Given the description of an element on the screen output the (x, y) to click on. 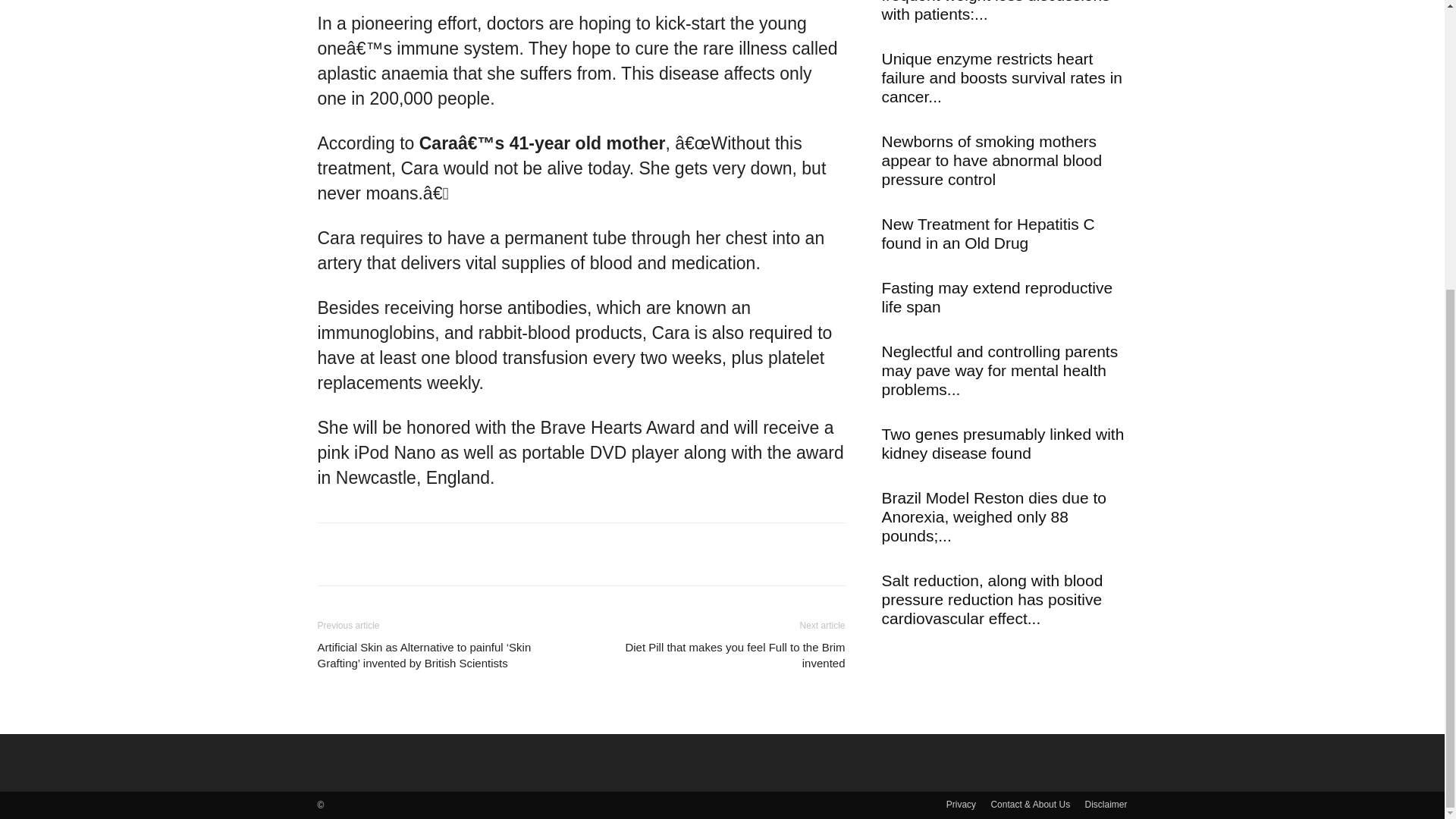
Fasting may extend reproductive life span (996, 297)
Two genes presumably linked with kidney disease found (1002, 443)
New Treatment for Hepatitis C found in an Old Drug (987, 233)
